Given the description of an element on the screen output the (x, y) to click on. 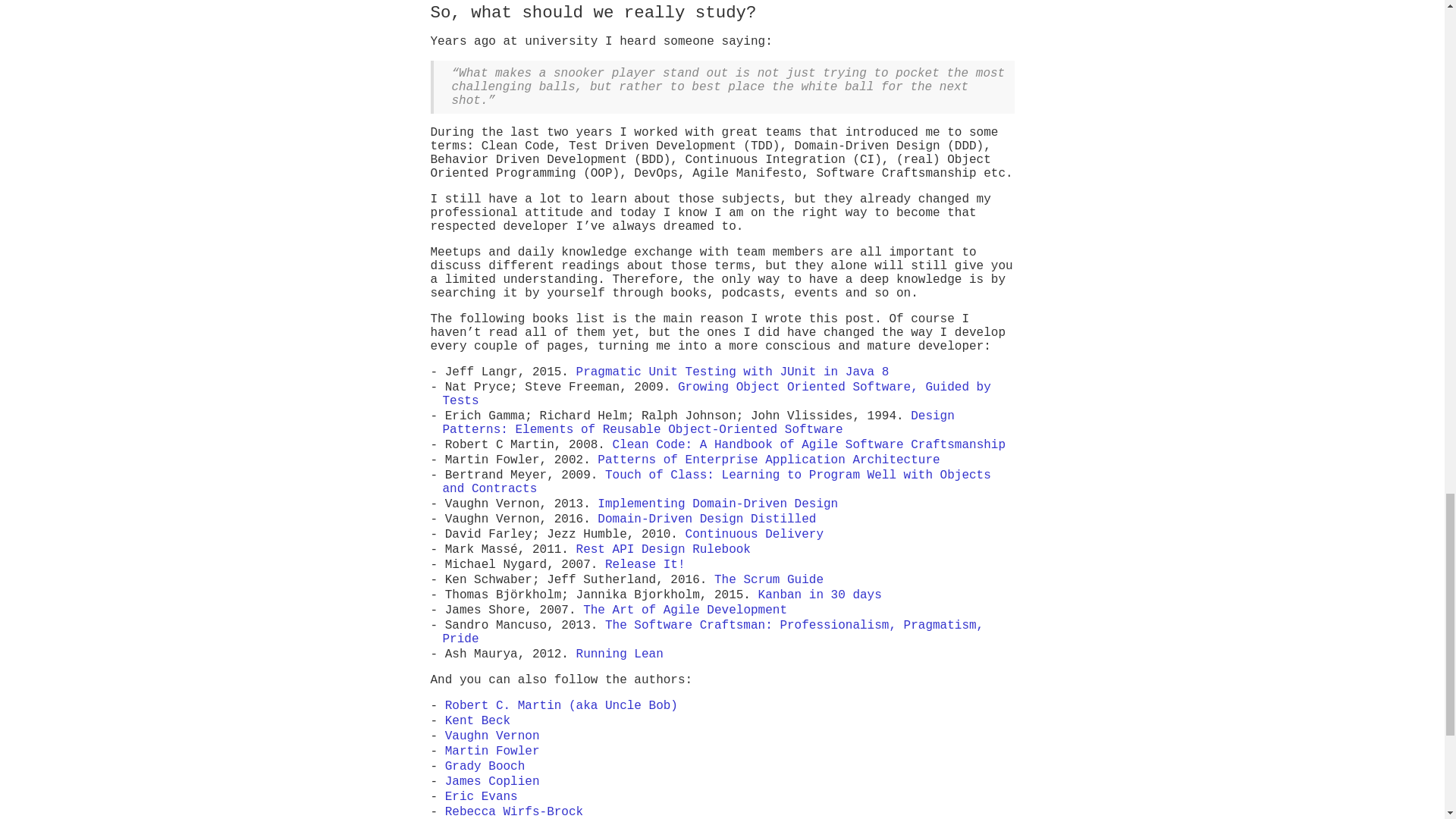
Release It! (645, 564)
Growing Object Oriented Software, Guided by Tests (716, 393)
Grady Booch (485, 766)
Clean Code: A Handbook of Agile Software Craftsmanship (809, 445)
Eric Evans (481, 796)
Implementing Domain-Driven Design (717, 504)
Running Lean (619, 653)
Rest API Design Rulebook (663, 549)
The Software Craftsman: Professionalism, Pragmatism, Pride (713, 632)
